Given the description of an element on the screen output the (x, y) to click on. 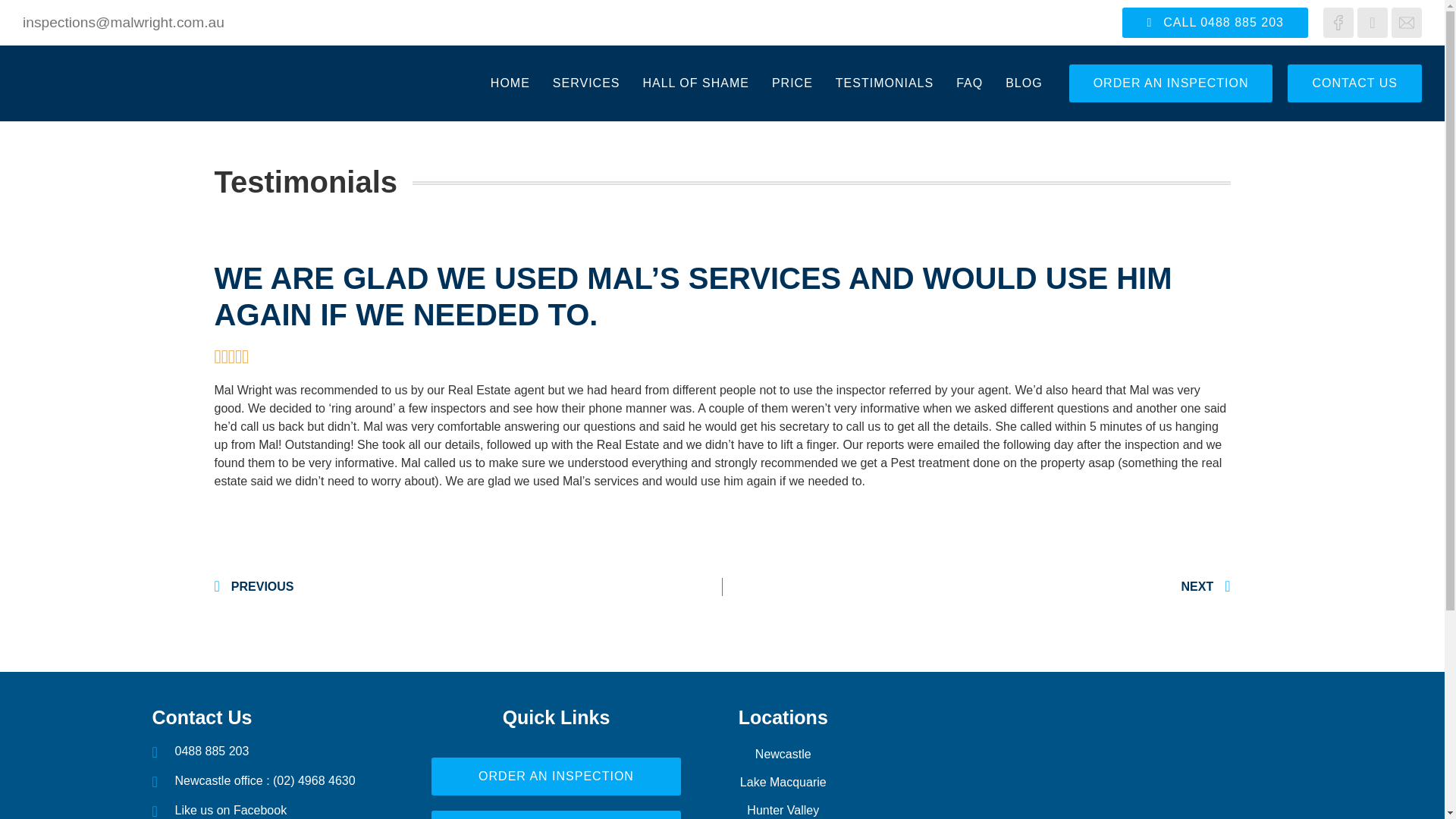
CALL 0488 885 203 (1214, 22)
